Given the description of an element on the screen output the (x, y) to click on. 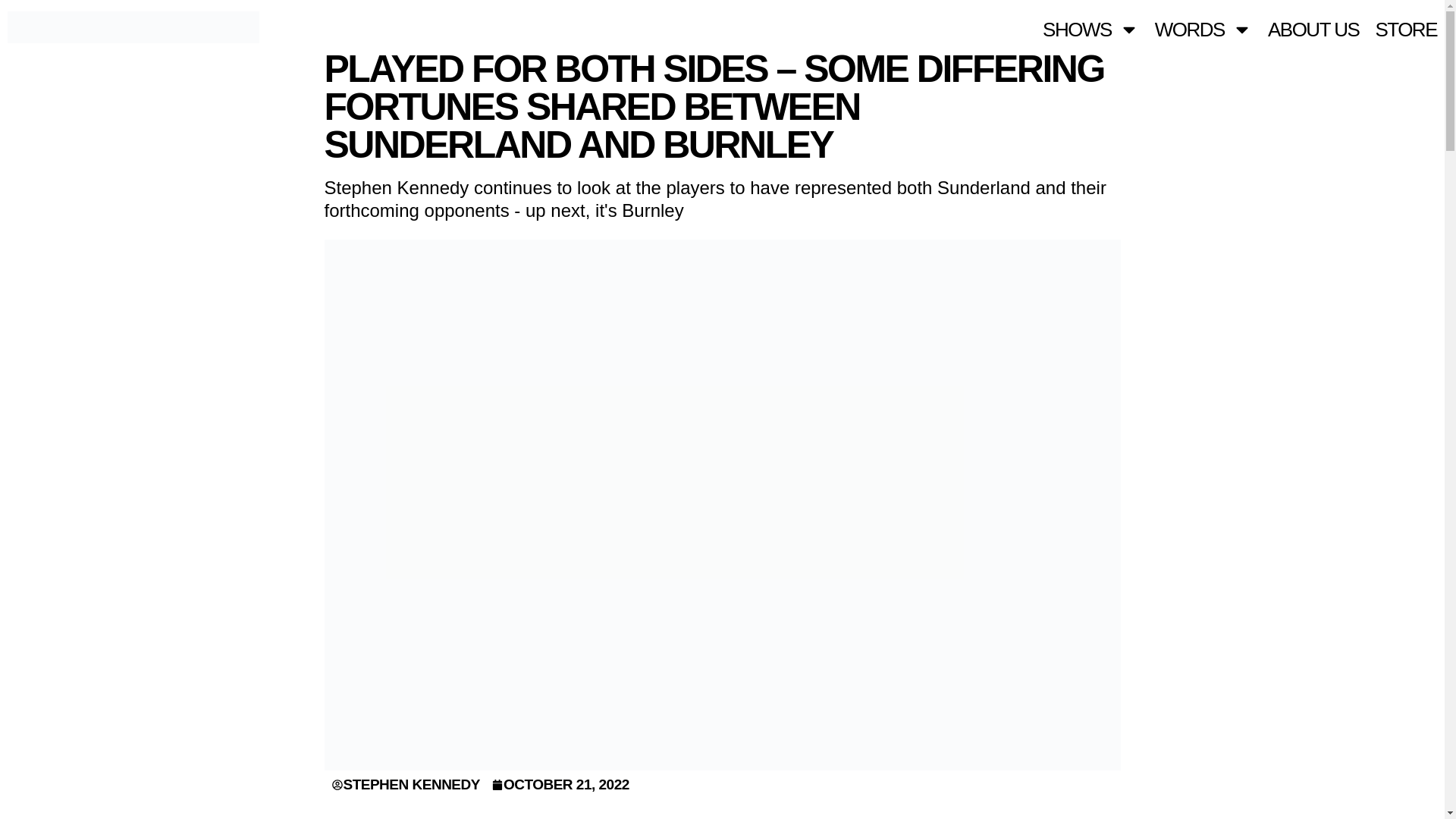
ABOUT US (1313, 29)
WORDS (1203, 29)
SHOWS (1090, 29)
STORE (1405, 29)
